Given the description of an element on the screen output the (x, y) to click on. 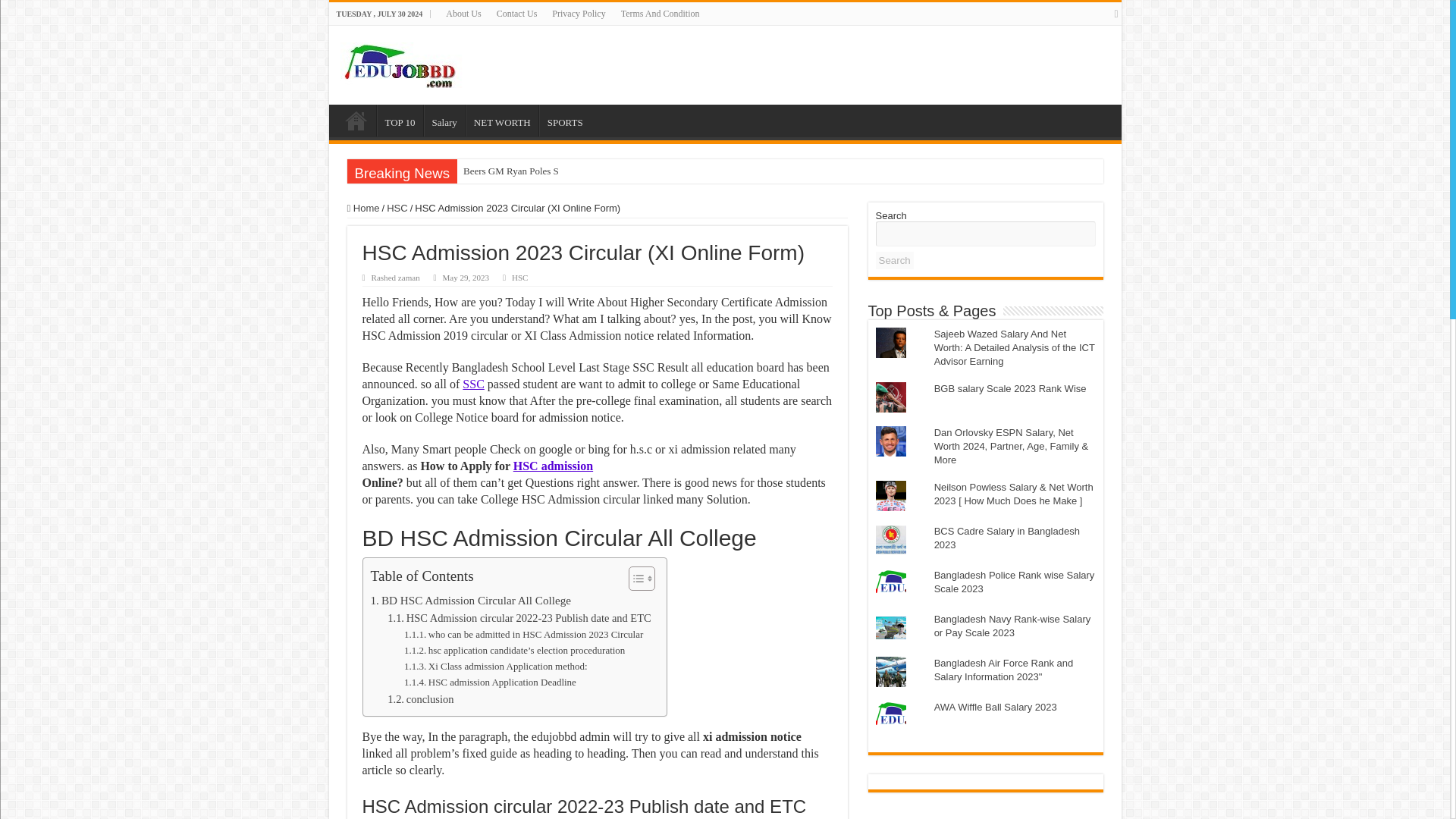
Terms And Condition (659, 13)
Beers GM Ryan Poles S (510, 170)
NET WORTH (501, 120)
conclusion (419, 699)
HSC admission Application Deadline (490, 682)
BD HSC Admission Circular All College (469, 600)
Home (363, 207)
Xi Class admission Application method: (496, 666)
About Us (462, 13)
HSC (520, 276)
SPORTS (564, 120)
who can be admitted in HSC Admission 2023 Circular (523, 634)
HSC admission (552, 465)
who can be admitted in HSC Admission 2023 Circular (523, 634)
